Given the description of an element on the screen output the (x, y) to click on. 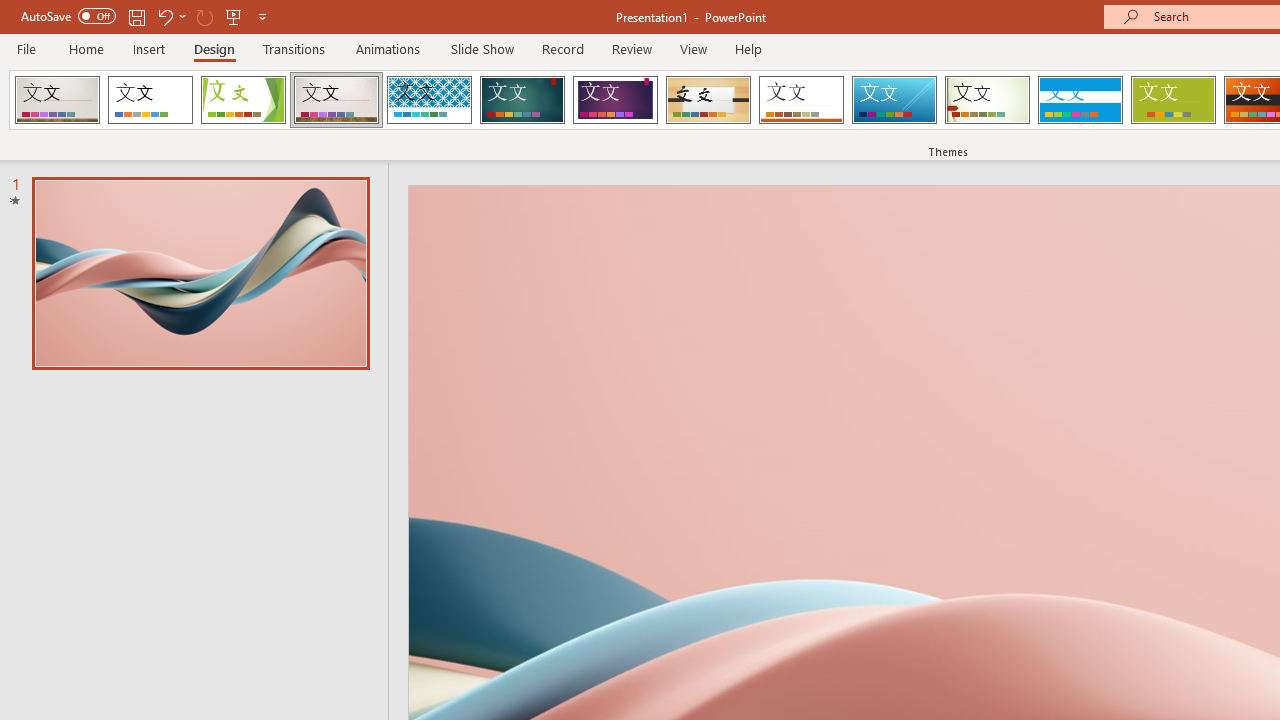
Banded (1080, 100)
Slice (893, 100)
Facet (243, 100)
